Given the description of an element on the screen output the (x, y) to click on. 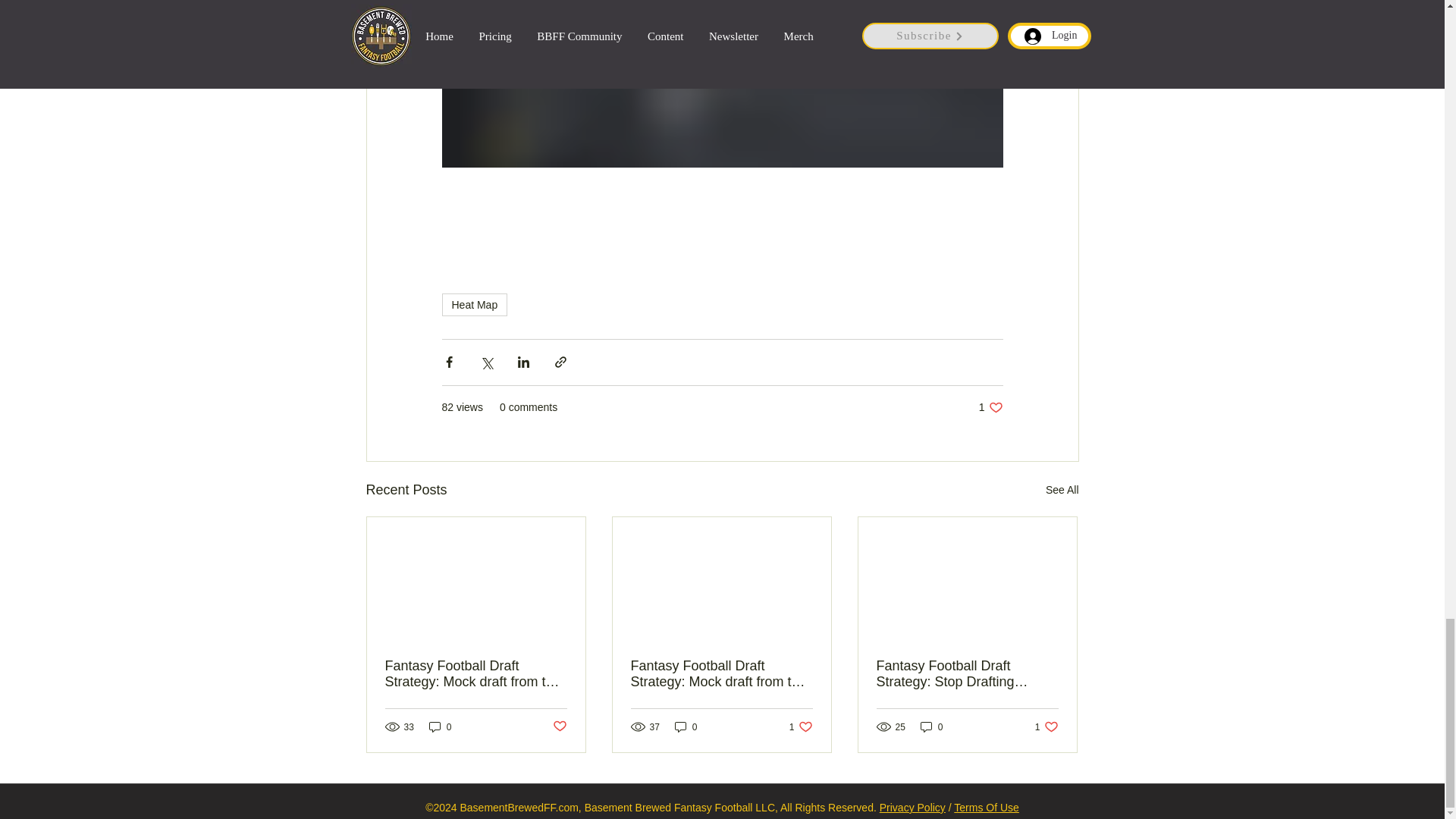
Heat Map (473, 304)
0 (440, 726)
See All (1061, 490)
Fantasy Football Draft Strategy: Mock draft from the 6 spot! (476, 674)
